Given the description of an element on the screen output the (x, y) to click on. 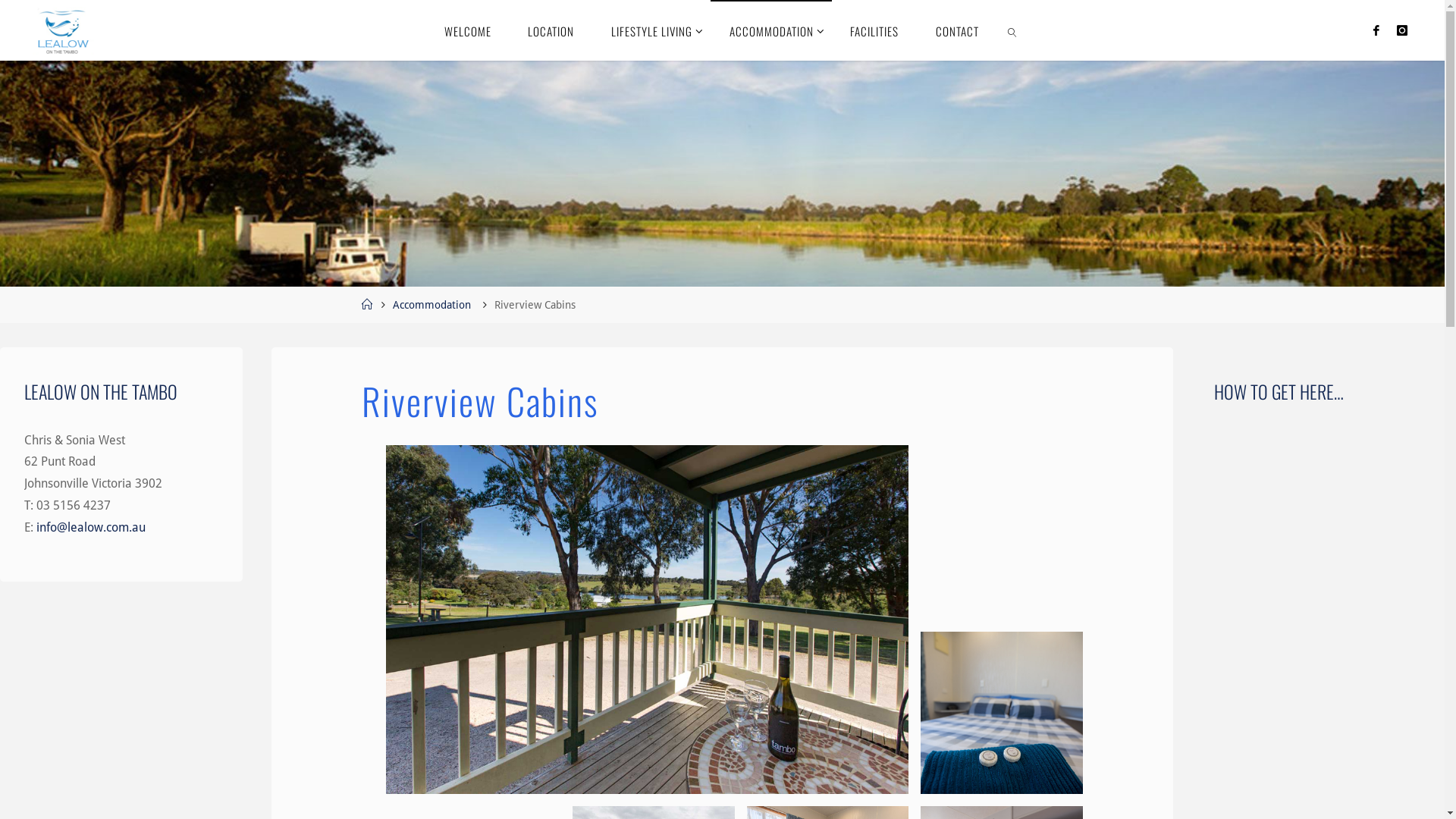
CONTACT Element type: text (957, 30)
FACILITIES Element type: text (874, 30)
Accommodation Element type: text (431, 304)
LOCATION Element type: text (551, 30)
WELCOME Element type: text (468, 30)
Facebook Element type: hover (1376, 30)
ACCOMMODATION Element type: text (770, 30)
Instagram Element type: hover (1401, 30)
Lealow Element type: hover (61, 29)
LIFESTYLE LIVING Element type: text (652, 30)
SEARCH Element type: text (1012, 30)
info@lealow.com.au Element type: text (90, 527)
Home Element type: text (366, 304)
